Given the description of an element on the screen output the (x, y) to click on. 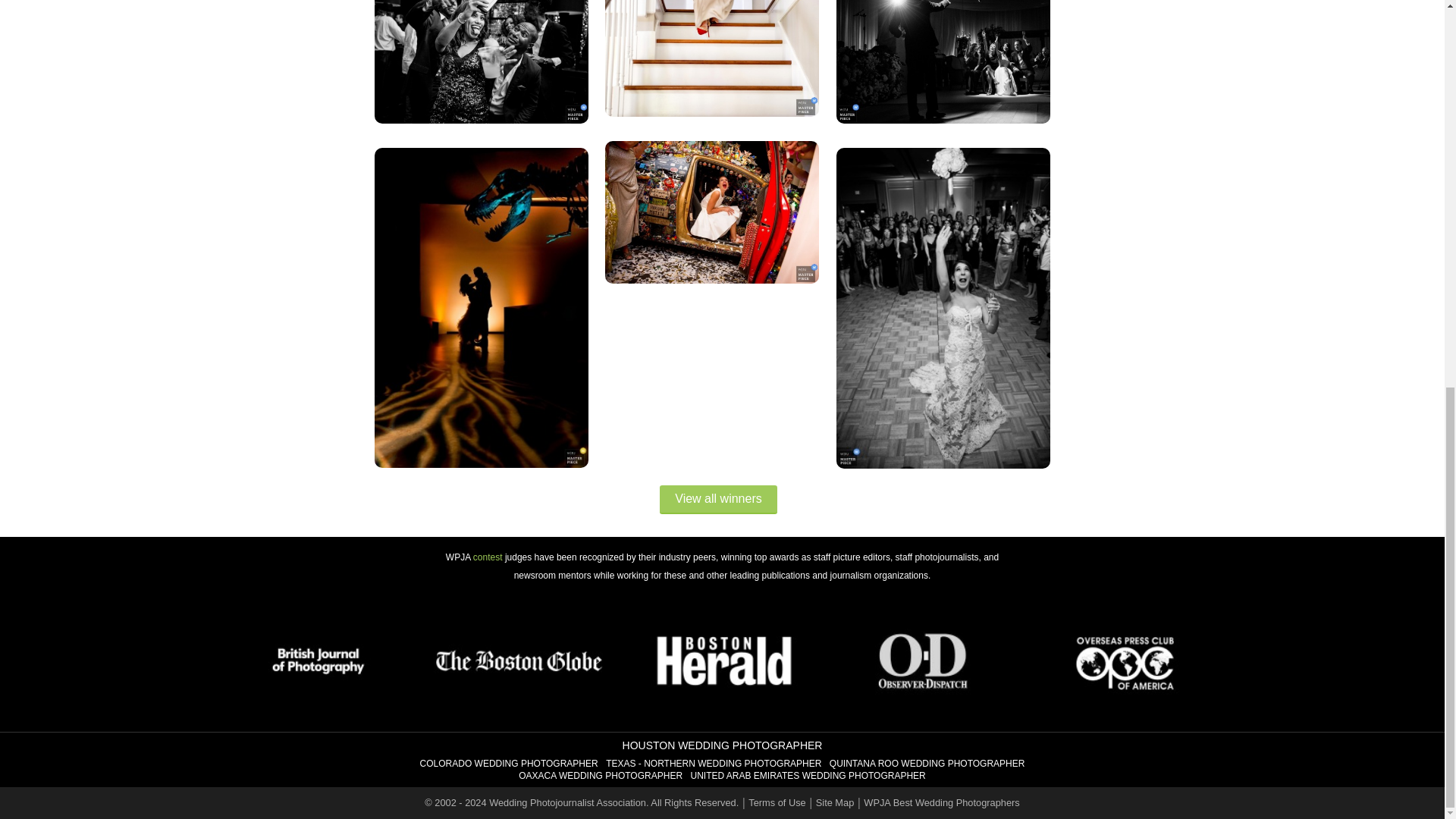
Houston wedding image of bride in an Art Car in Texas (711, 211)
